Given the description of an element on the screen output the (x, y) to click on. 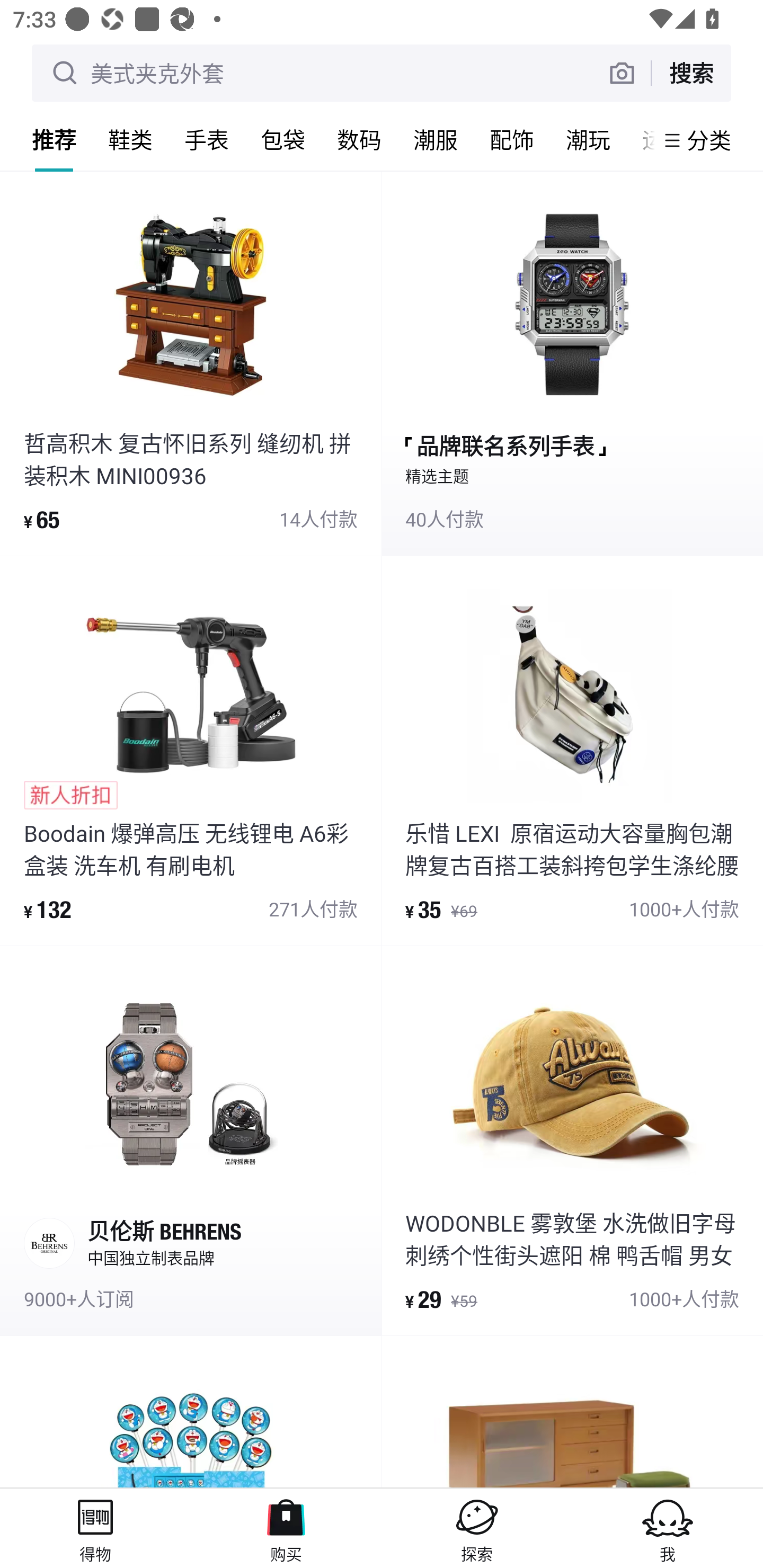
搜索 (690, 72)
推荐 (54, 139)
鞋类 (130, 139)
手表 (206, 139)
包袋 (282, 139)
数码 (359, 139)
潮服 (435, 139)
配饰 (511, 139)
潮玩 (588, 139)
分类 (708, 139)
品牌联名系列手表 精选主题 40人付款 (572, 362)
贝伦斯 BEHRENS 中国独立制表品牌 9000+人订阅 (190, 1140)
得物 (95, 1528)
购买 (285, 1528)
探索 (476, 1528)
我 (667, 1528)
